Given the description of an element on the screen output the (x, y) to click on. 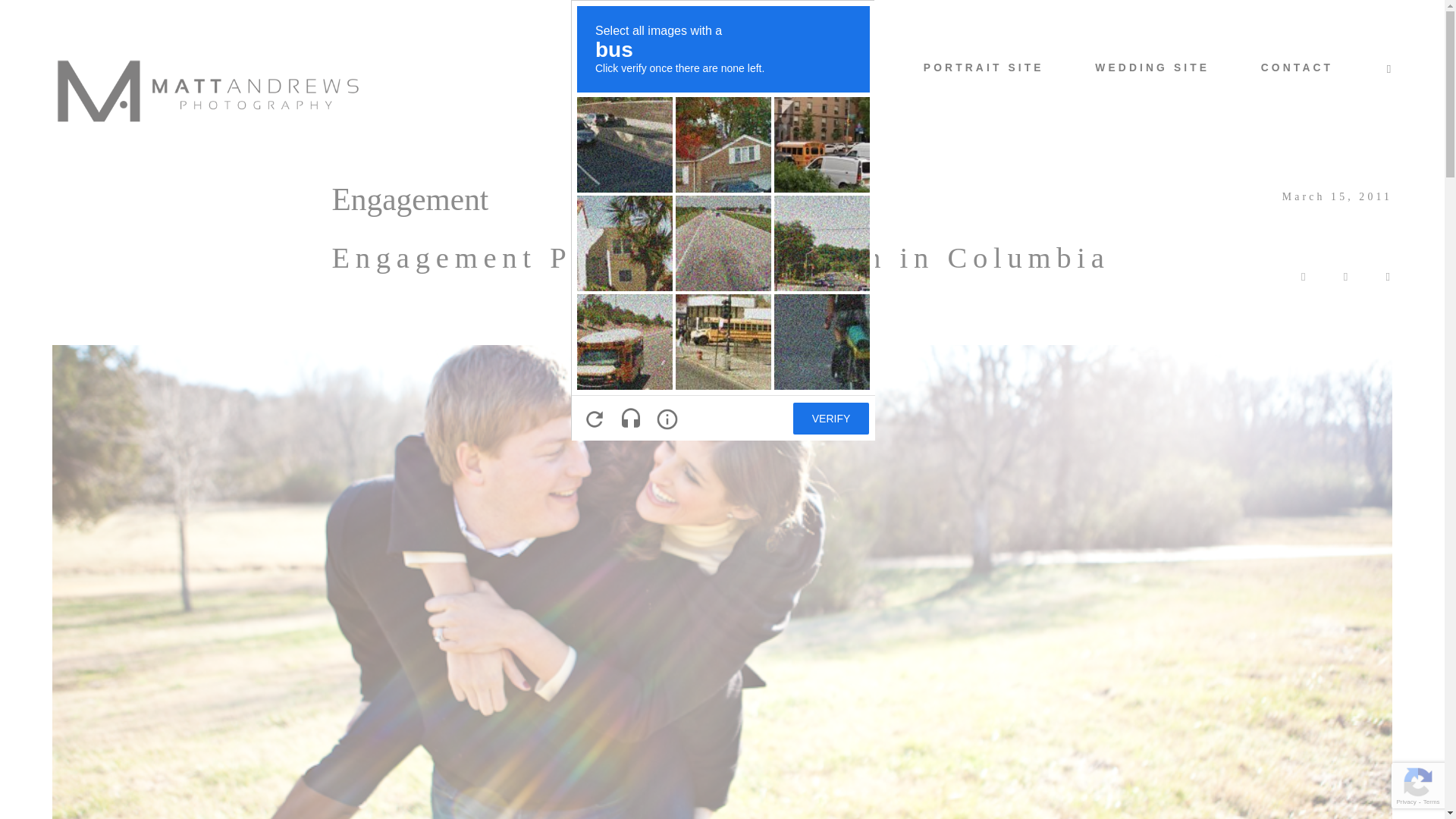
HOME (593, 67)
ABOUT (694, 67)
PORTRAIT SITE (983, 67)
CONTACT (1296, 67)
BLOG POSTS (821, 67)
WEDDING SITE (1151, 67)
Engagement (409, 199)
